Given the description of an element on the screen output the (x, y) to click on. 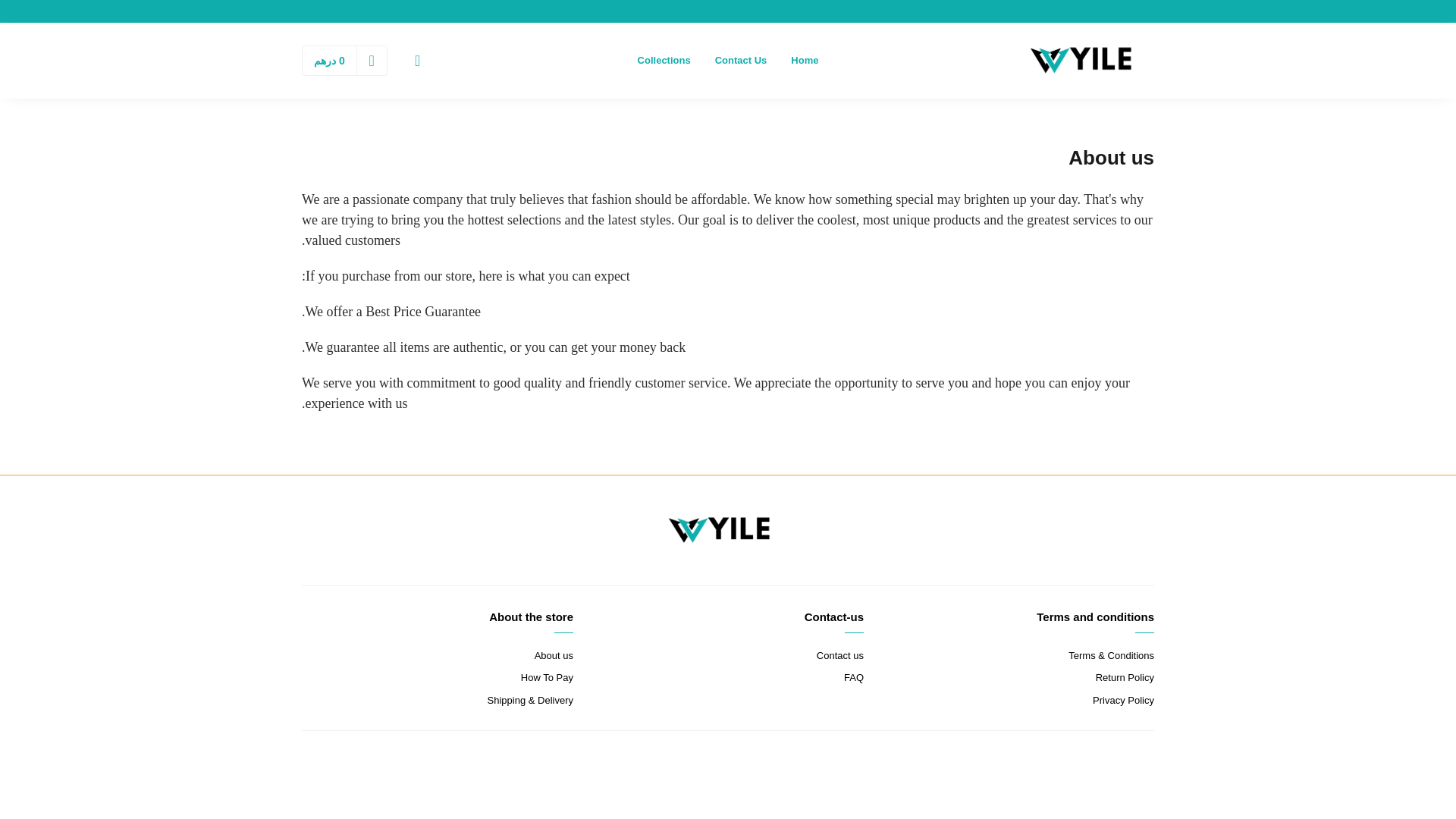
How To Pay (437, 677)
Collections (664, 60)
Contact us (727, 654)
About us (437, 654)
FAQ (727, 677)
Return Policy (1018, 677)
Contact Us (740, 60)
Privacy Policy (1018, 700)
